Given the description of an element on the screen output the (x, y) to click on. 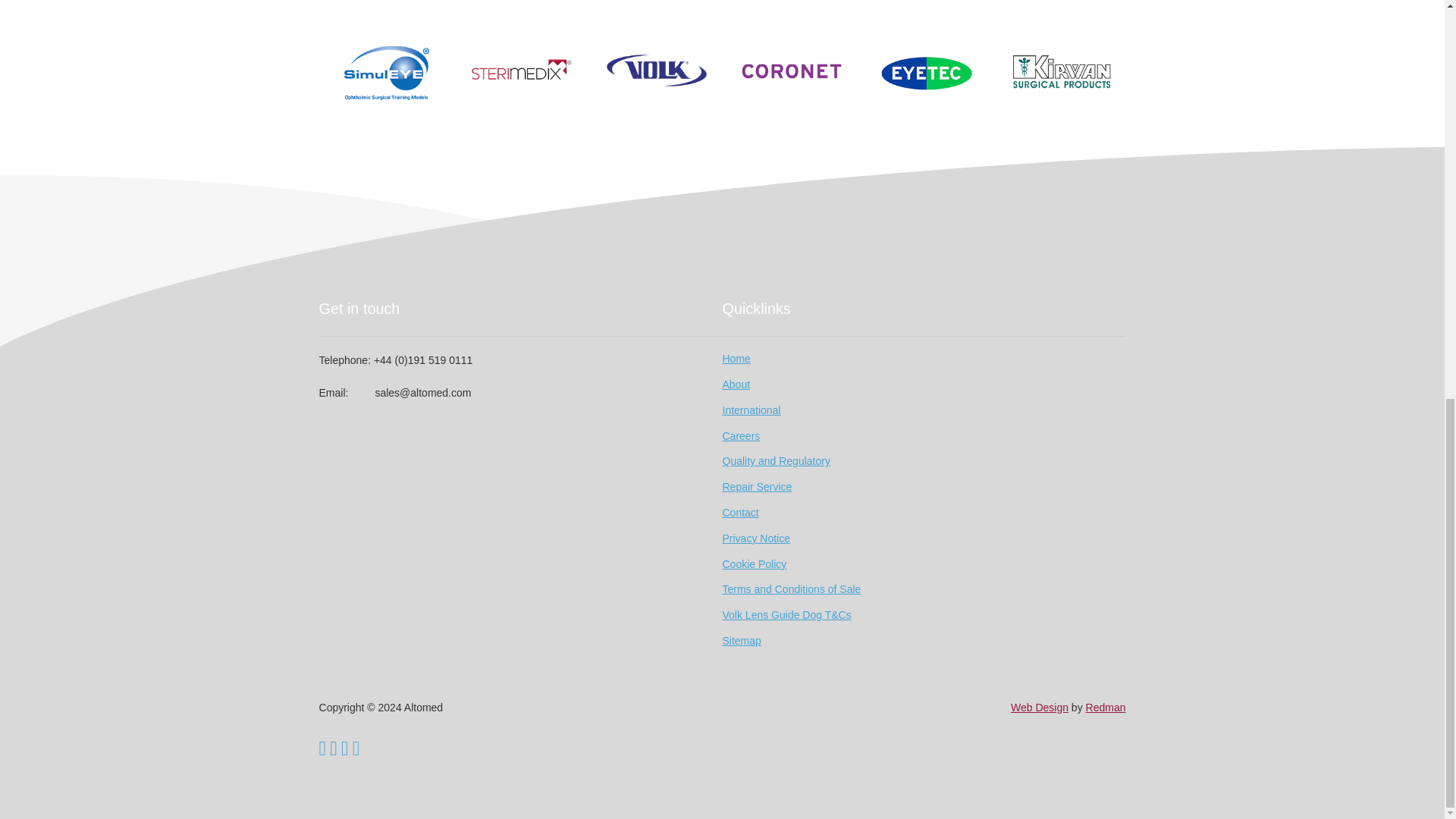
Simuleye (386, 66)
Volk (656, 66)
Sterimedix (521, 66)
